Given the description of an element on the screen output the (x, y) to click on. 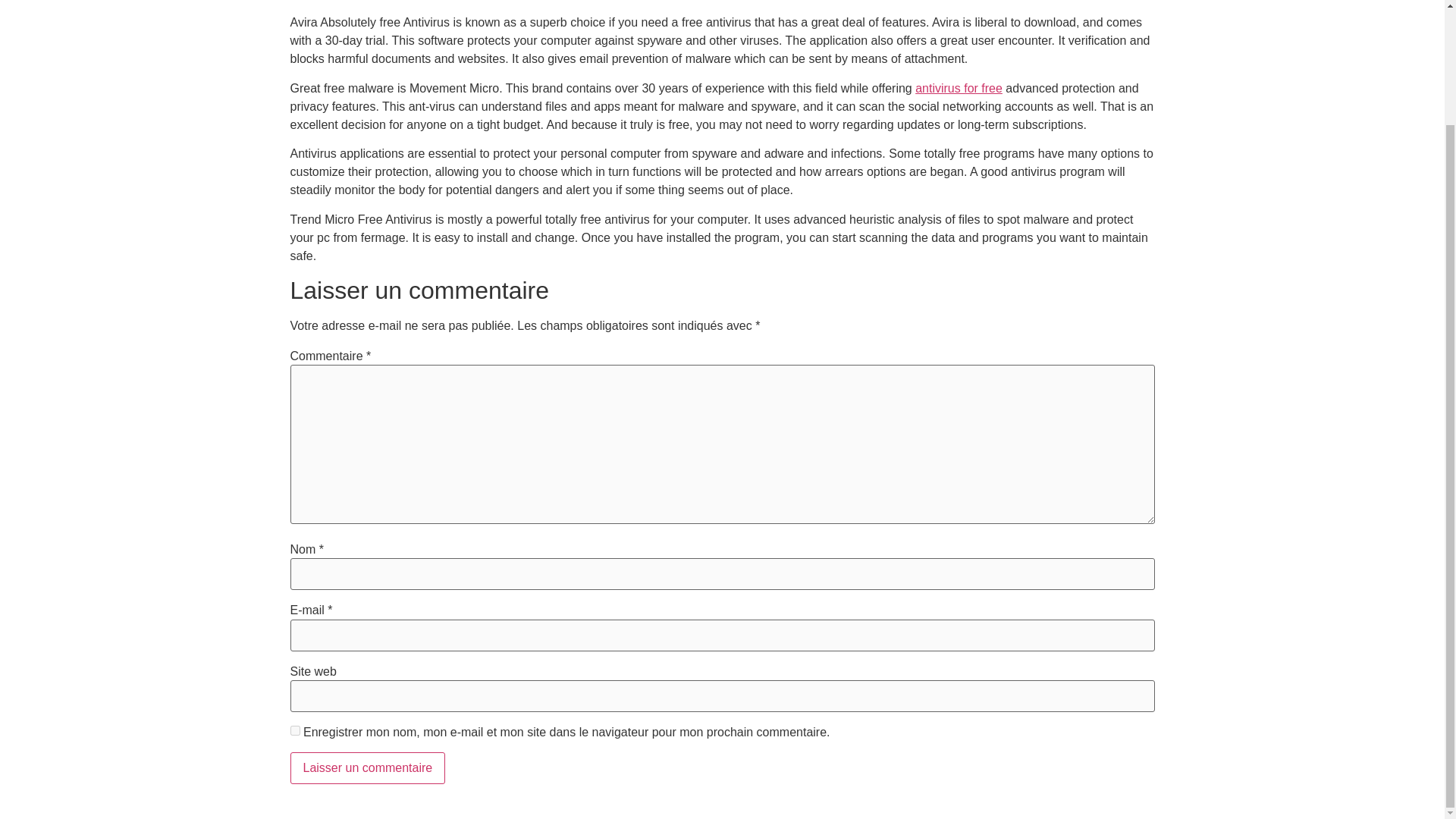
antivirus for free (959, 88)
yes (294, 730)
Laisser un commentaire (367, 767)
Laisser un commentaire (367, 767)
